Given the description of an element on the screen output the (x, y) to click on. 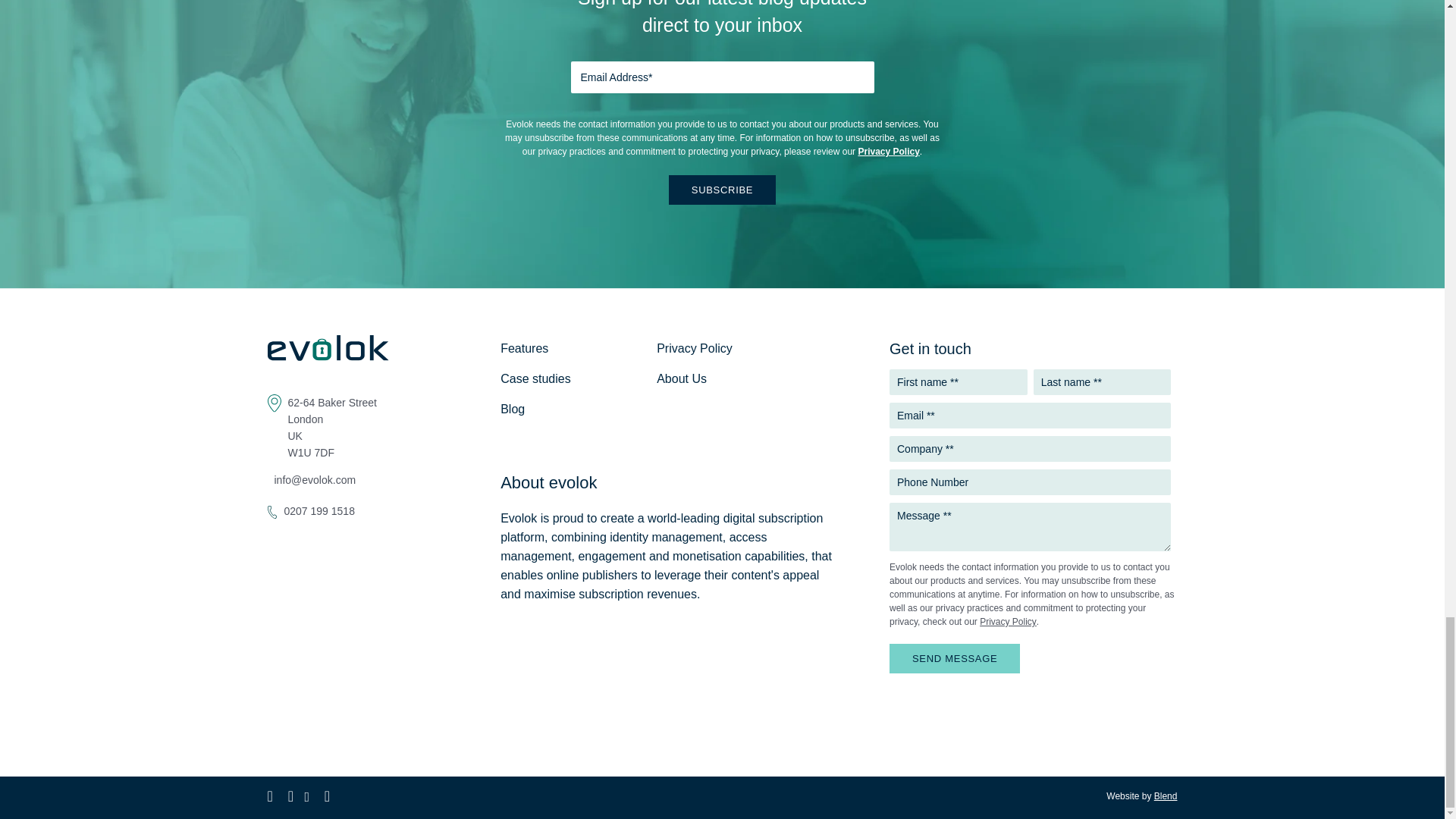
Case studies (535, 378)
Subscribe (722, 189)
Blog (512, 408)
Subscribe (722, 189)
Features (524, 348)
Privacy Policy (887, 151)
SEND MESSAGE (954, 658)
